Given the description of an element on the screen output the (x, y) to click on. 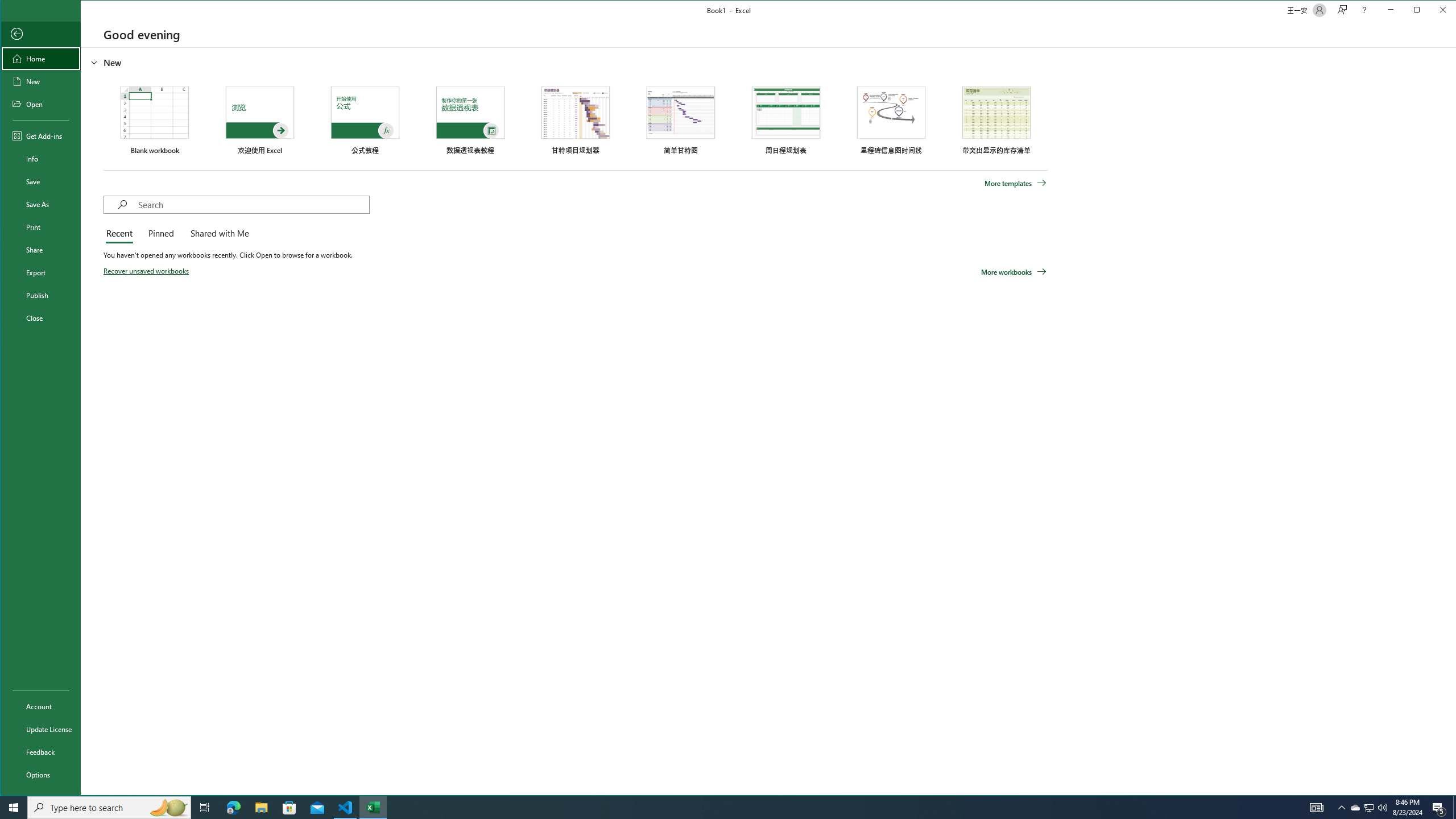
Task View (204, 807)
